Given the description of an element on the screen output the (x, y) to click on. 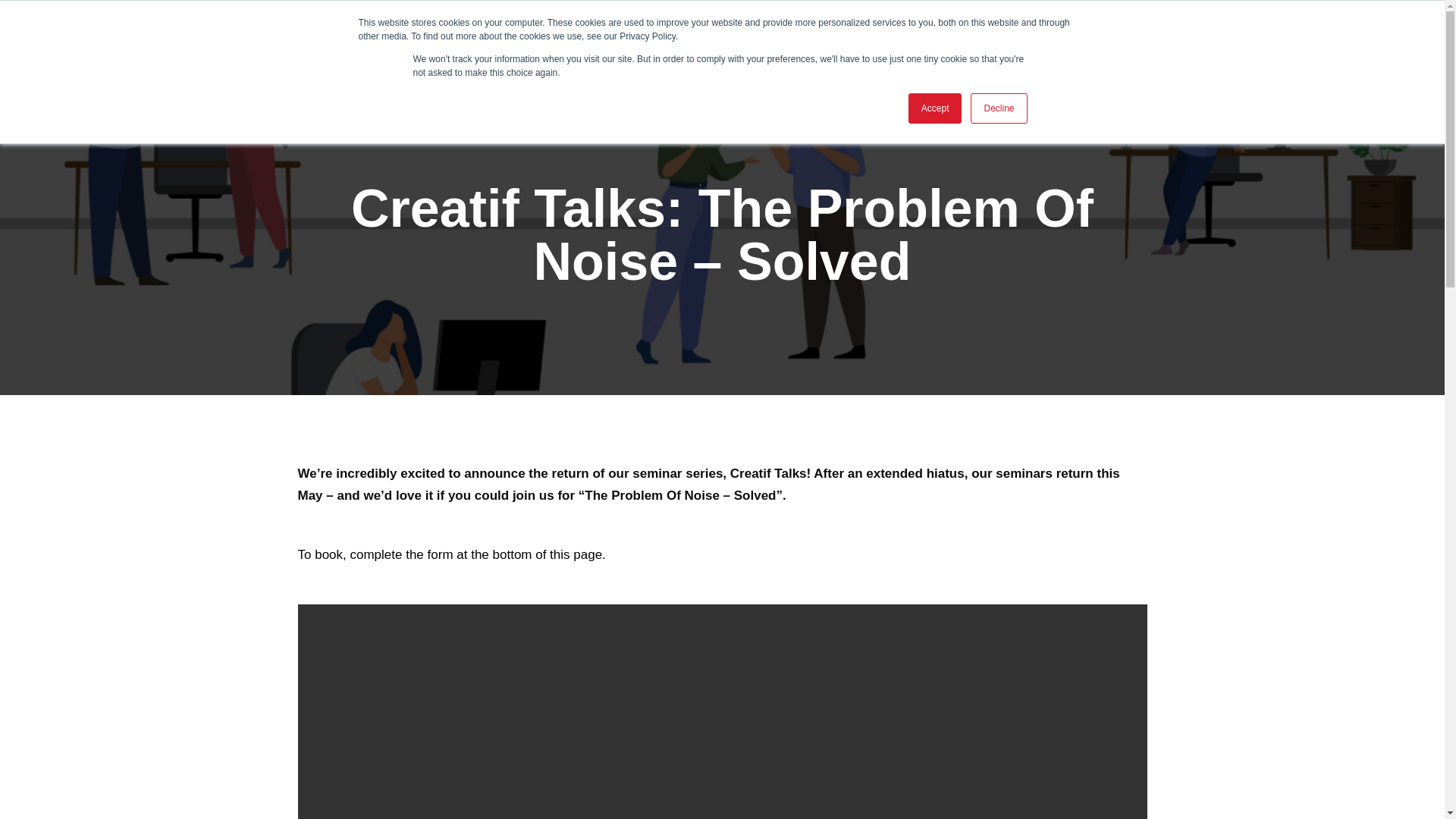
ABOUT US (613, 33)
RESOURCES (772, 33)
CONTACT (1093, 33)
PROJECTS (689, 33)
ACOUSTIC SOLUTIONS (893, 33)
Decline (998, 108)
Accept (935, 108)
INSPIRATION (1005, 33)
Skip to content (11, 31)
